Given the description of an element on the screen output the (x, y) to click on. 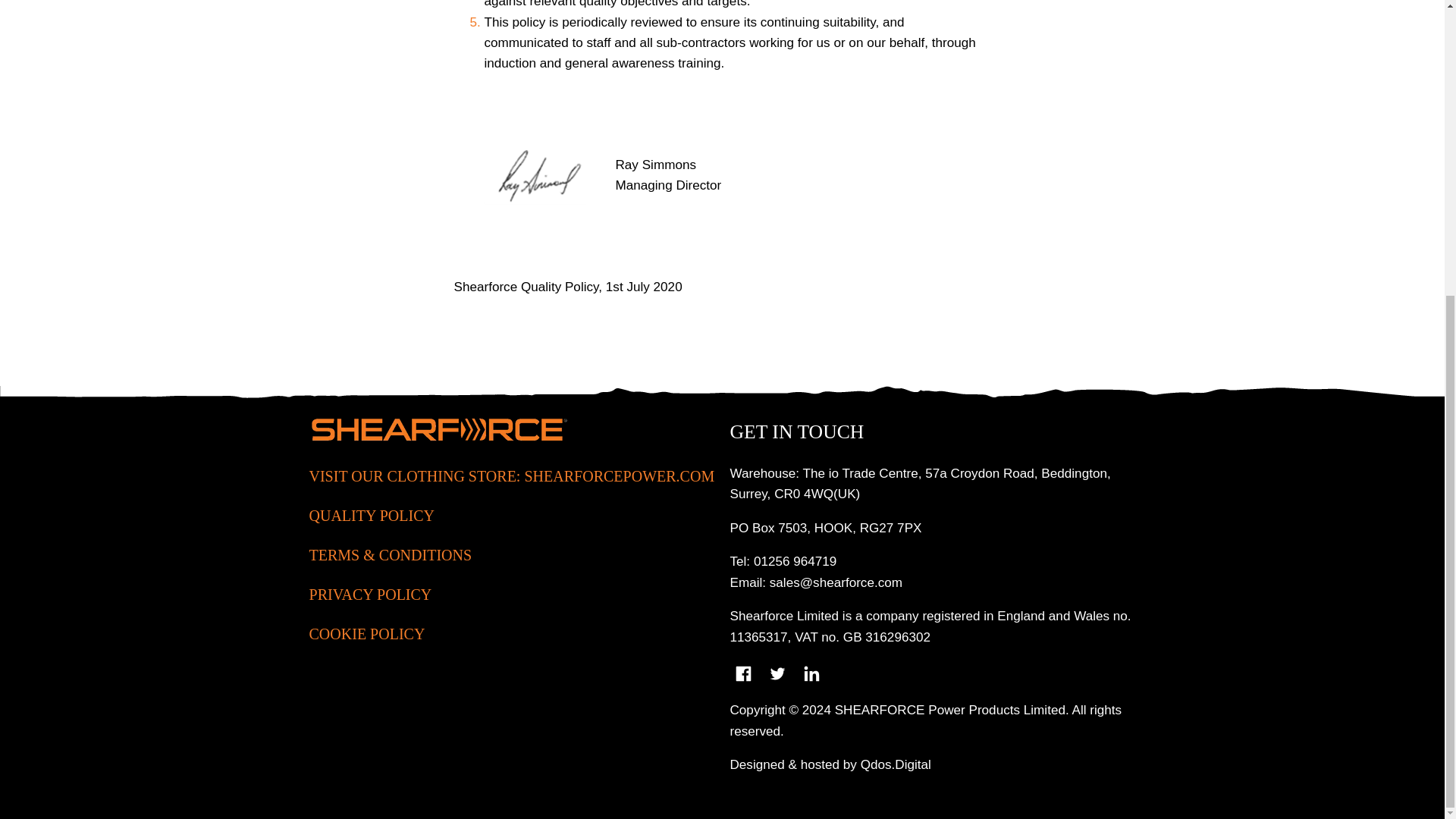
PRIVACY POLICY (511, 594)
Qdos.Digital (895, 764)
Tel: 01256 964719 (782, 561)
QUALITY POLICY (511, 515)
Shearforce Linkedin (810, 673)
Shearforce Twitter (777, 673)
COOKIE POLICY (511, 633)
Shearforce Facebook (742, 673)
VISIT OUR CLOTHING STORE: SHEARFORCEPOWER.COM (511, 492)
